Given the description of an element on the screen output the (x, y) to click on. 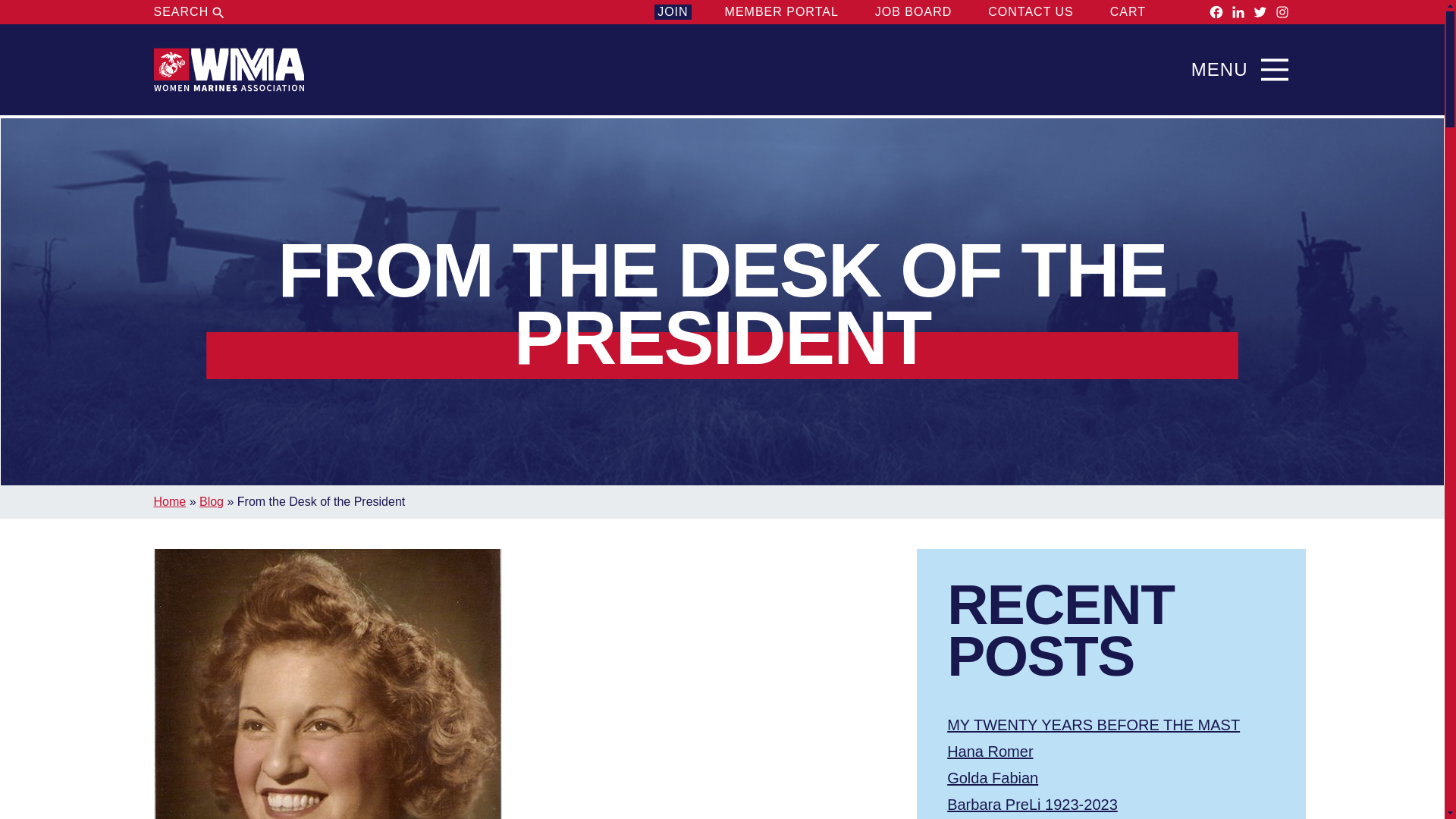
SKIP TO MAIN CONTENT (721, 37)
CART (1141, 12)
CONTACT US (1031, 11)
Women Marines Association (227, 69)
MEMBER PORTAL (781, 11)
SEARCH (189, 11)
MENU (1244, 69)
Linkedin (1237, 12)
Instagram (1281, 12)
Twitter (1259, 12)
